Given the description of an element on the screen output the (x, y) to click on. 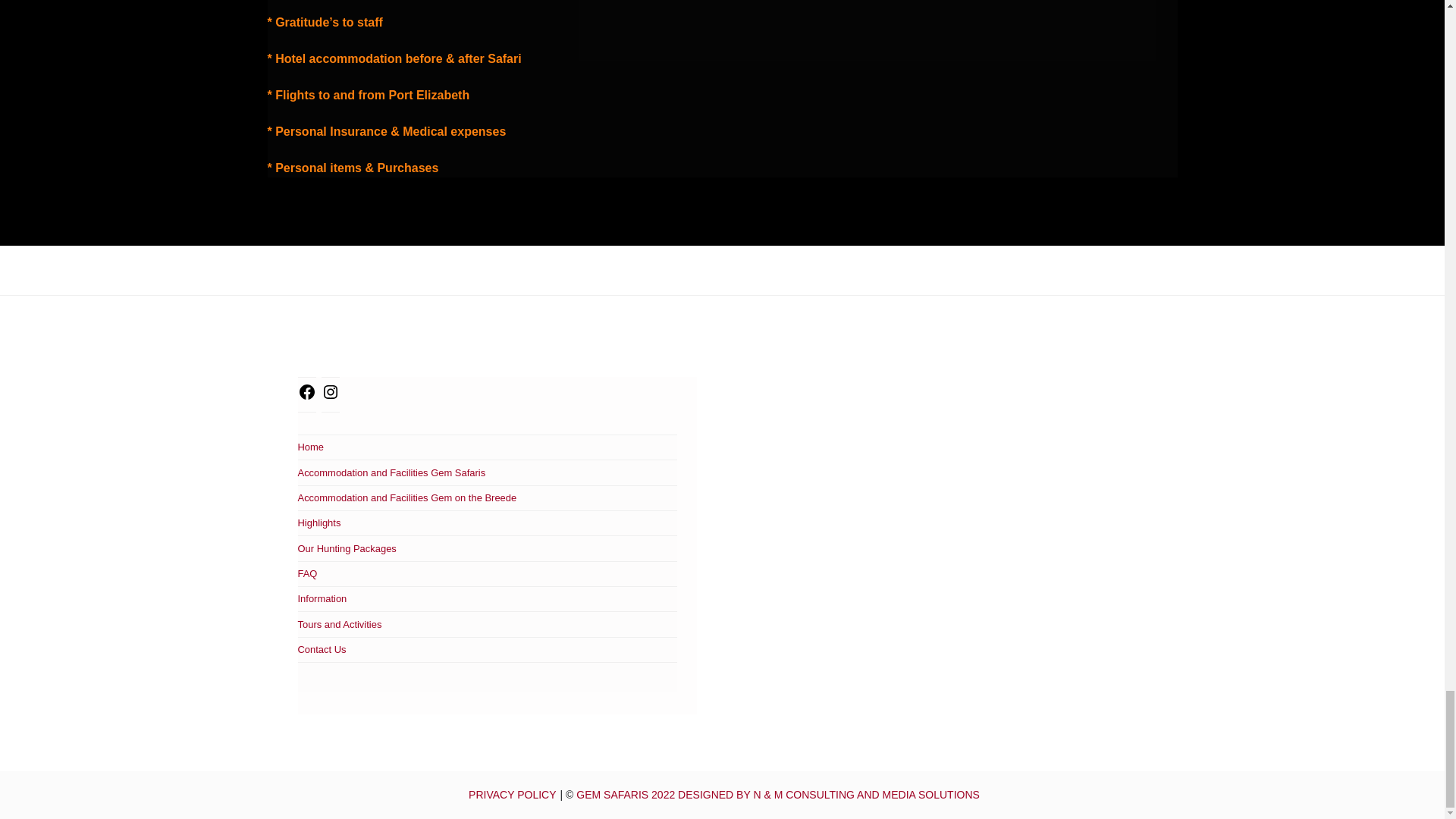
Gem Safaris (777, 795)
